Given the description of an element on the screen output the (x, y) to click on. 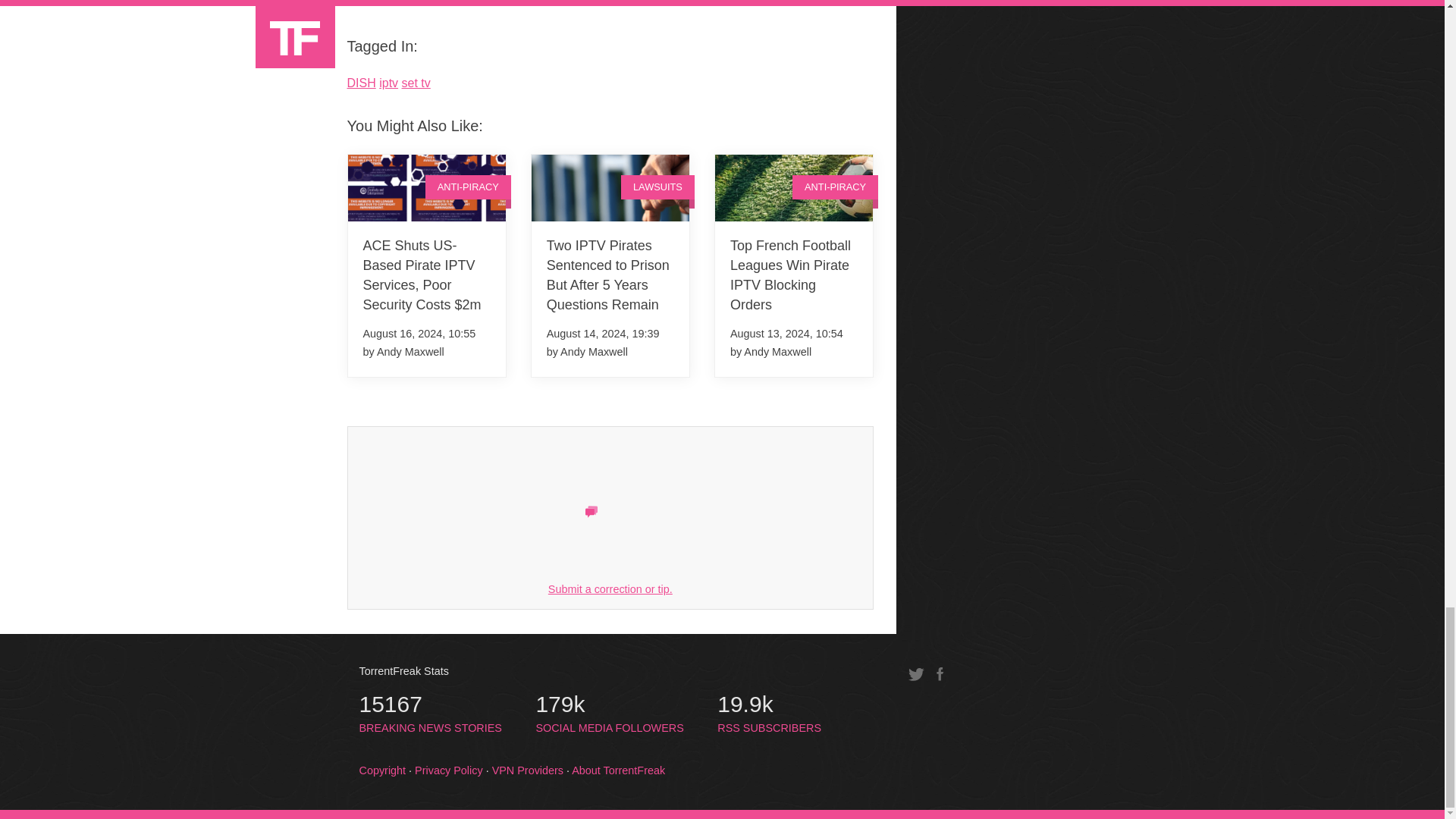
Next Post (380, 6)
iptv (387, 82)
Previous Post (830, 6)
DISH (361, 82)
set tv (415, 82)
Submit a correction or tip. (610, 589)
